Given the description of an element on the screen output the (x, y) to click on. 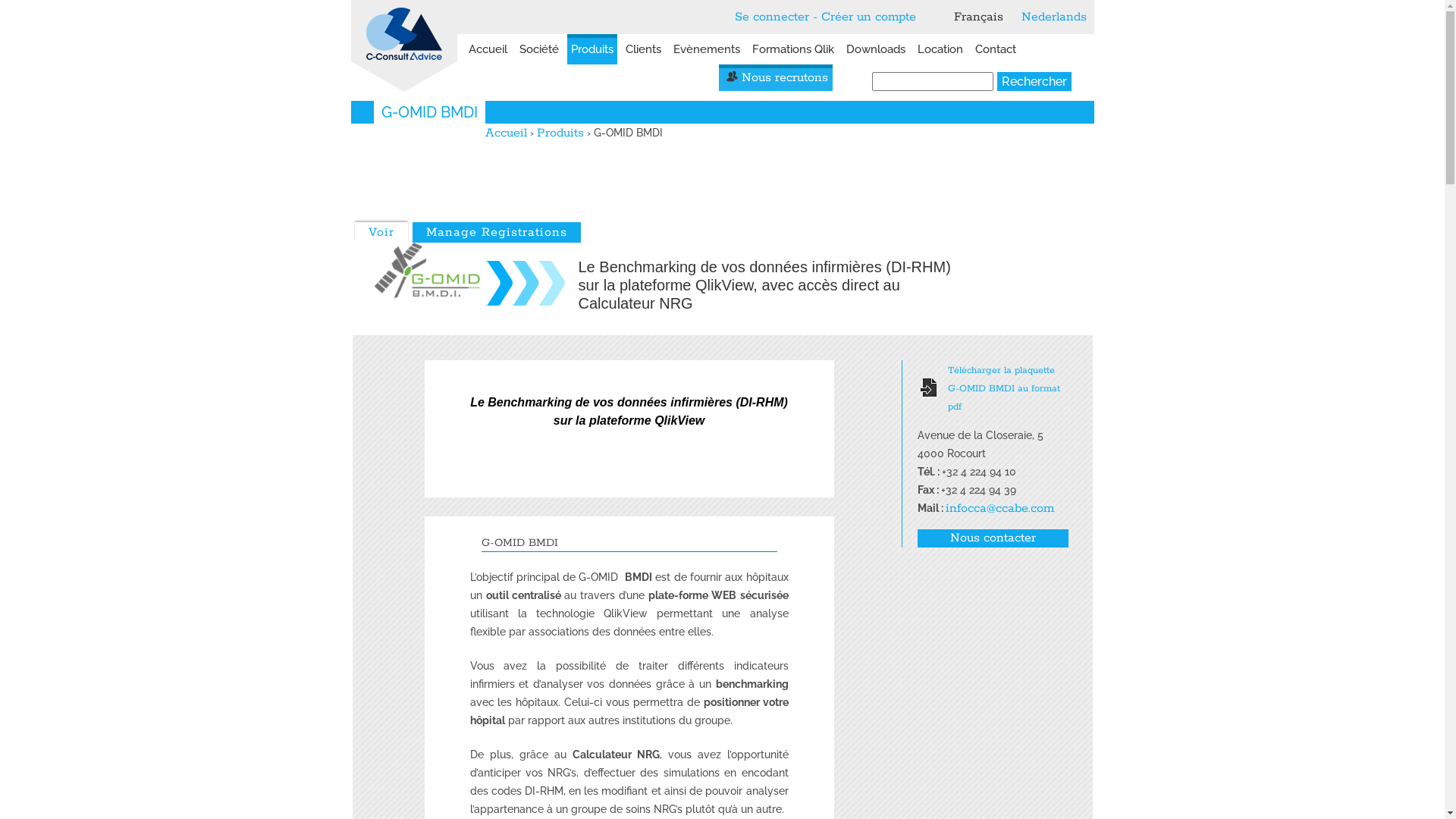
Voir
(onglet actif) Element type: text (380, 232)
Nous recrutons Element type: text (775, 77)
Accueil Element type: text (506, 133)
infocca@ccabe.com Element type: text (998, 508)
Formations Qlik Element type: text (792, 49)
Accueil Element type: hover (403, 30)
Accueil Element type: text (487, 49)
Clients Element type: text (643, 49)
Manage Registrations Element type: text (496, 232)
Contact Element type: text (994, 49)
Produits Element type: text (592, 49)
Jump to navigation Element type: text (722, 2)
Nous contacter Element type: text (992, 538)
Rechercher Element type: text (1033, 81)
Produits Element type: text (559, 133)
Downloads Element type: text (874, 49)
Location Element type: text (939, 49)
Nederlands Element type: text (1052, 17)
